Given the description of an element on the screen output the (x, y) to click on. 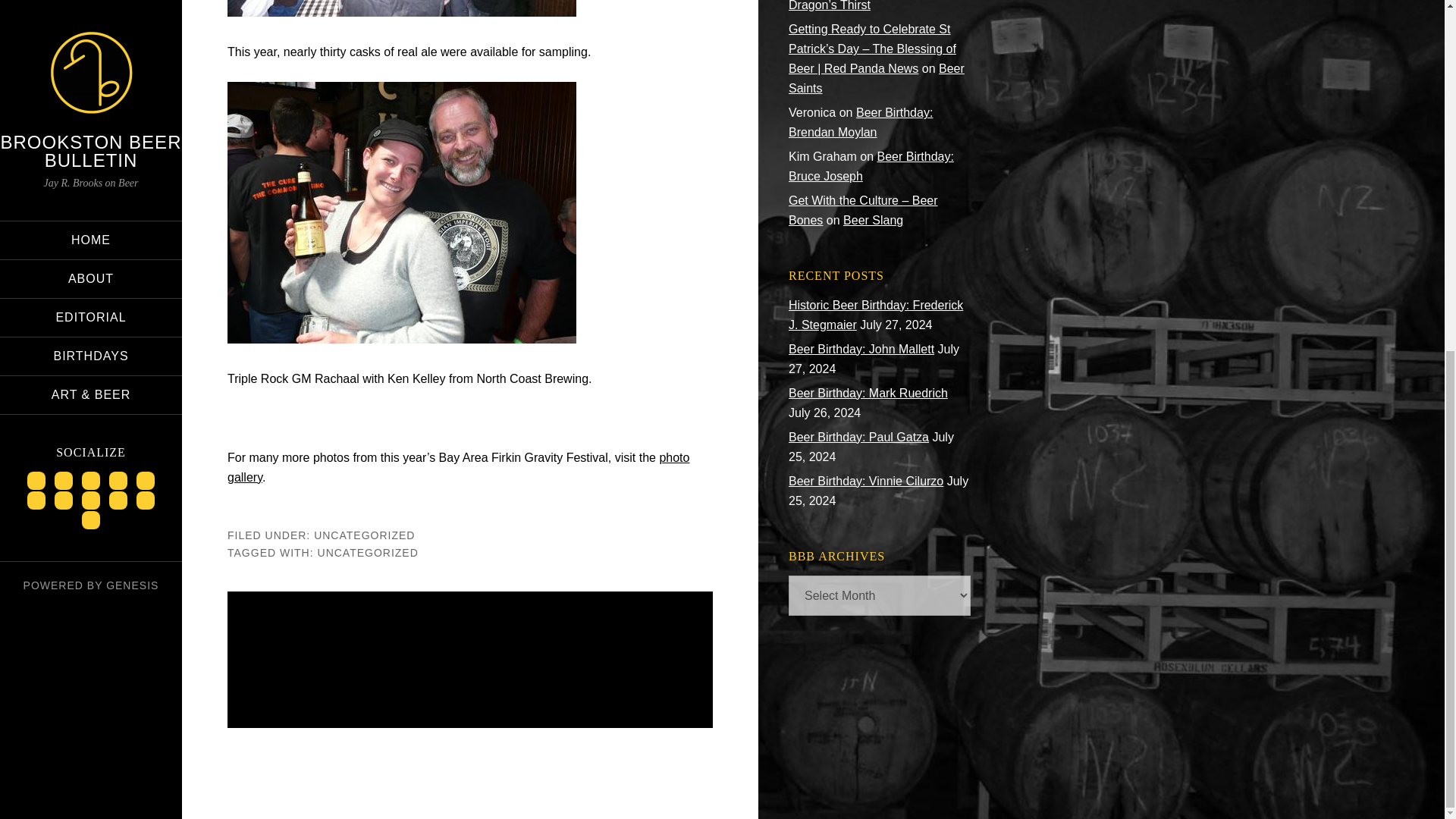
UNCATEGORIZED (368, 551)
Beer Slang (872, 219)
Beer Birthday: Mark Ruedrich (868, 392)
UNCATEGORIZED (364, 535)
Historic Beer Birthday: Frederick J. Stegmaier (875, 314)
Beer Birthday: Bruce Joseph (871, 165)
Beer Saints (876, 78)
Beer Birthday: John Mallett (861, 349)
photo gallery (457, 467)
Beer Birthday: Brendan Moylan (861, 122)
